Given the description of an element on the screen output the (x, y) to click on. 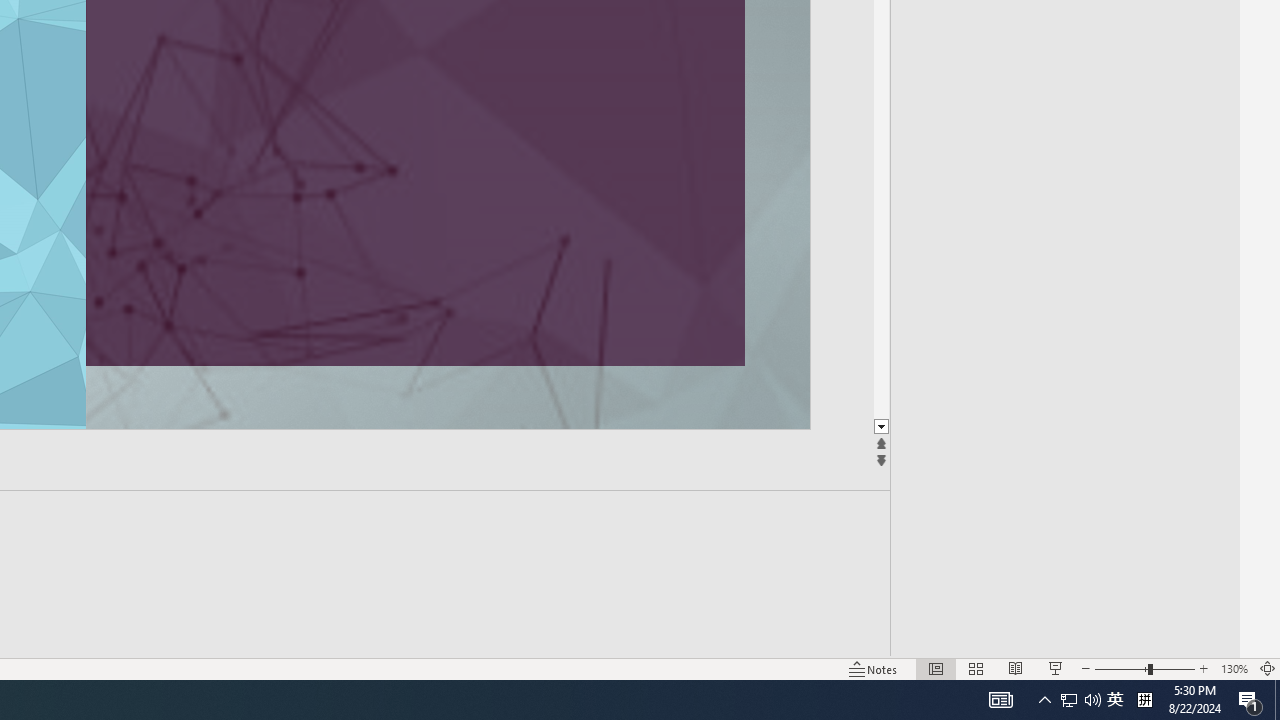
Line down (880, 427)
Zoom 130% (1234, 668)
